Given the description of an element on the screen output the (x, y) to click on. 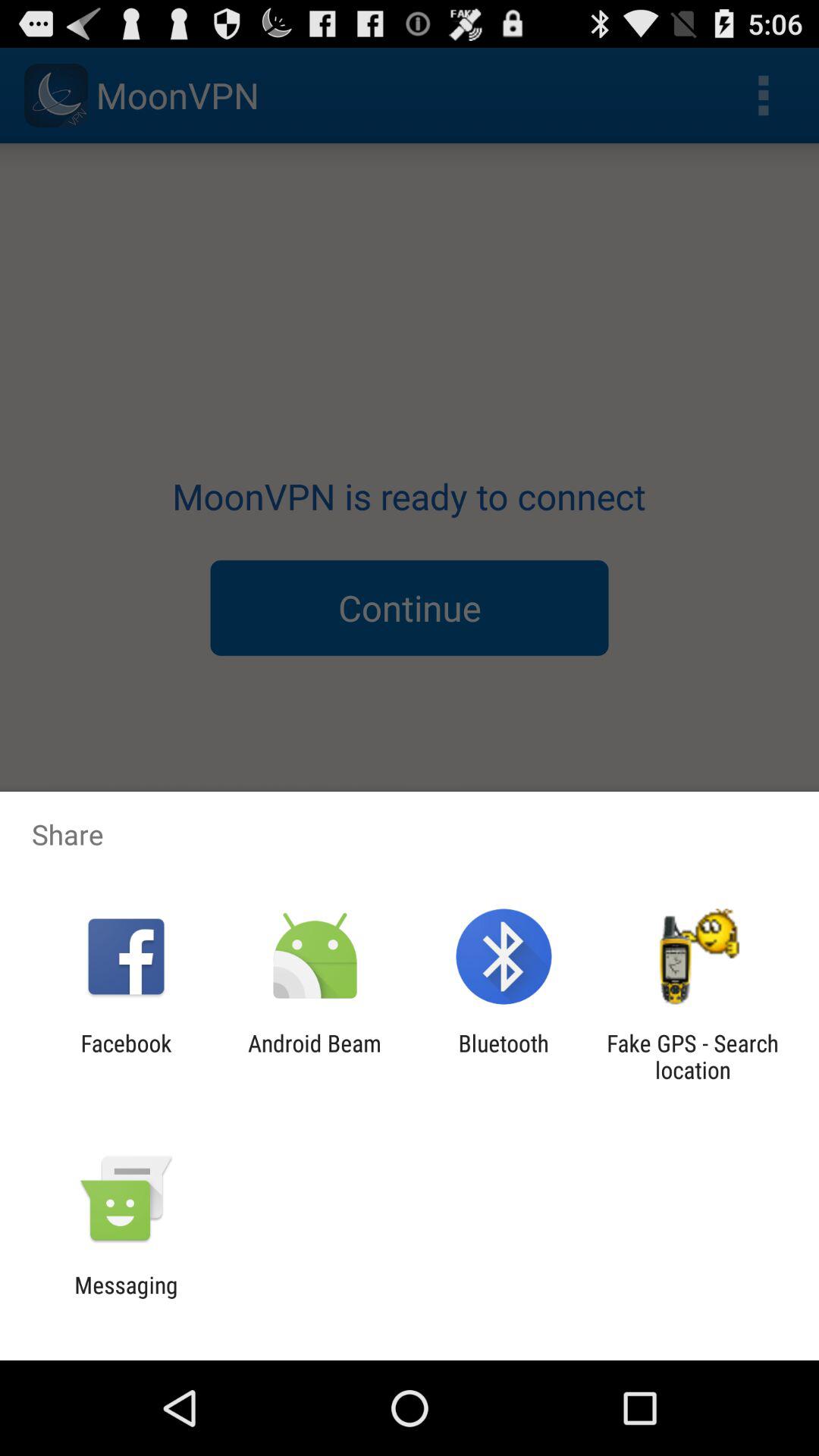
turn on the app to the right of the android beam item (503, 1056)
